Given the description of an element on the screen output the (x, y) to click on. 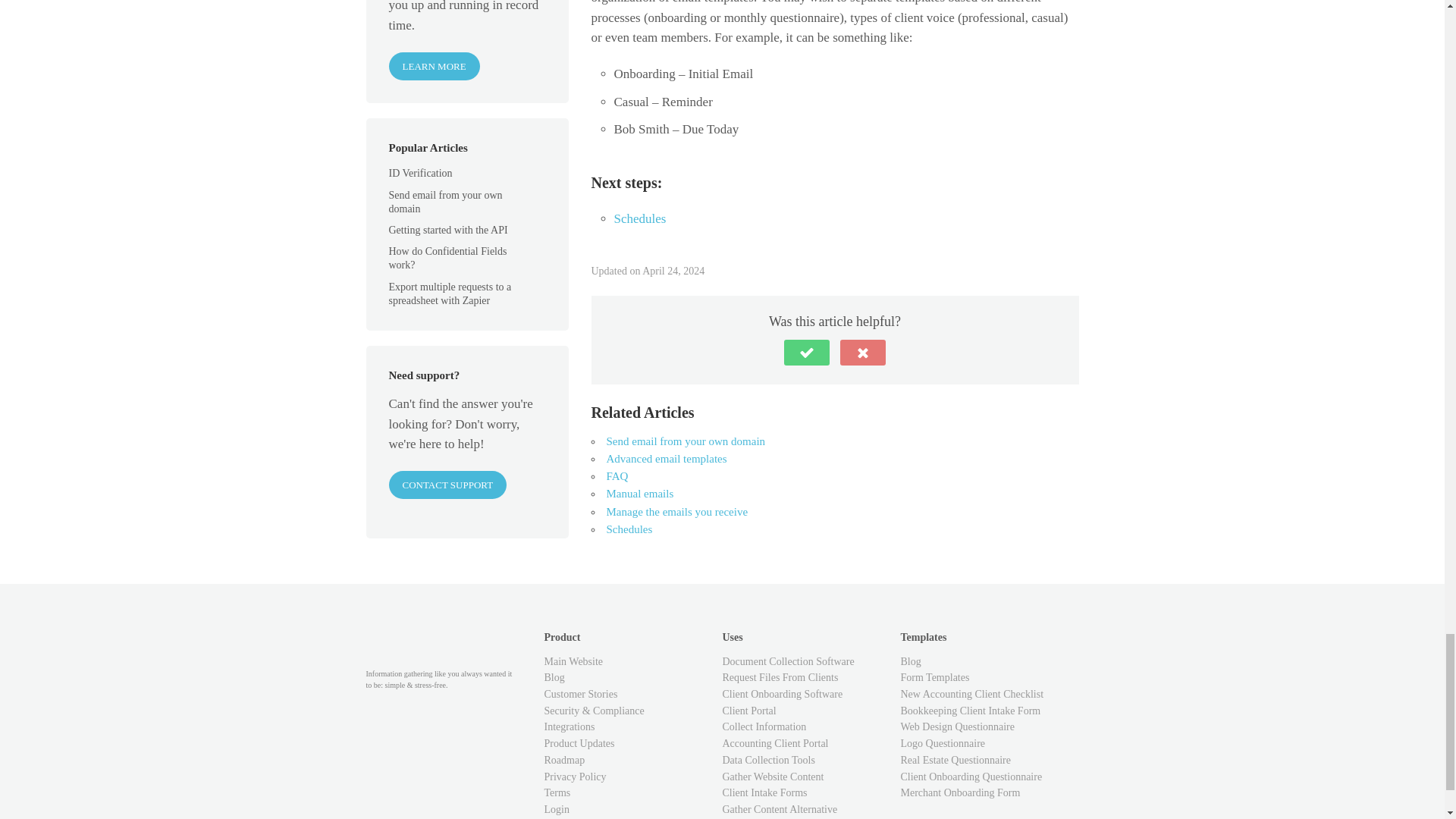
Send email from your own domain (686, 440)
Schedules (629, 529)
Manage the emails you receive (677, 511)
Advanced email templates (666, 458)
Manual emails (640, 493)
FAQ (617, 476)
Schedules (640, 218)
Blog (911, 661)
